Given the description of an element on the screen output the (x, y) to click on. 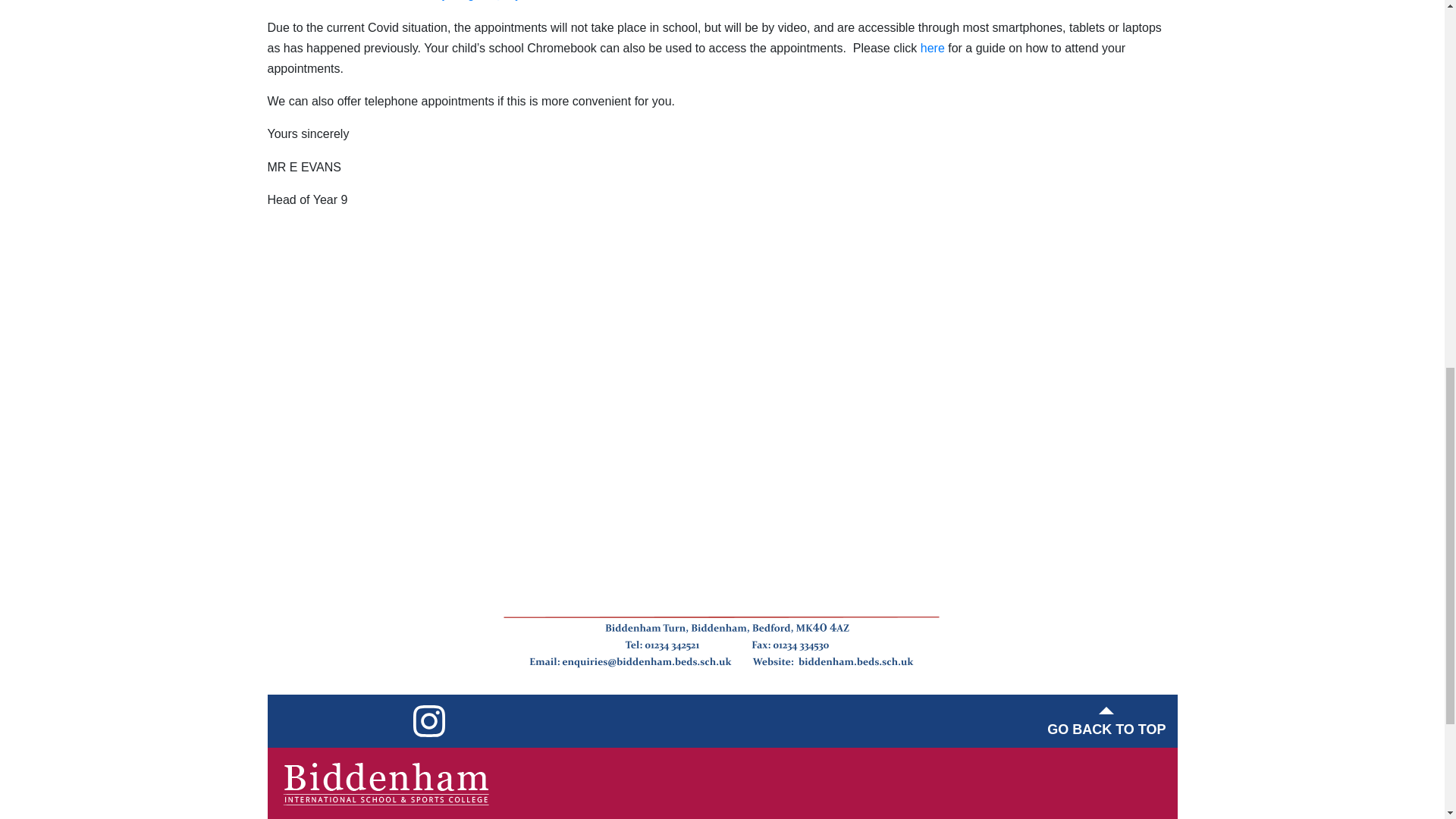
Instagram (428, 720)
Twitter (339, 720)
Facebook (296, 720)
Youtube (384, 720)
